Given the description of an element on the screen output the (x, y) to click on. 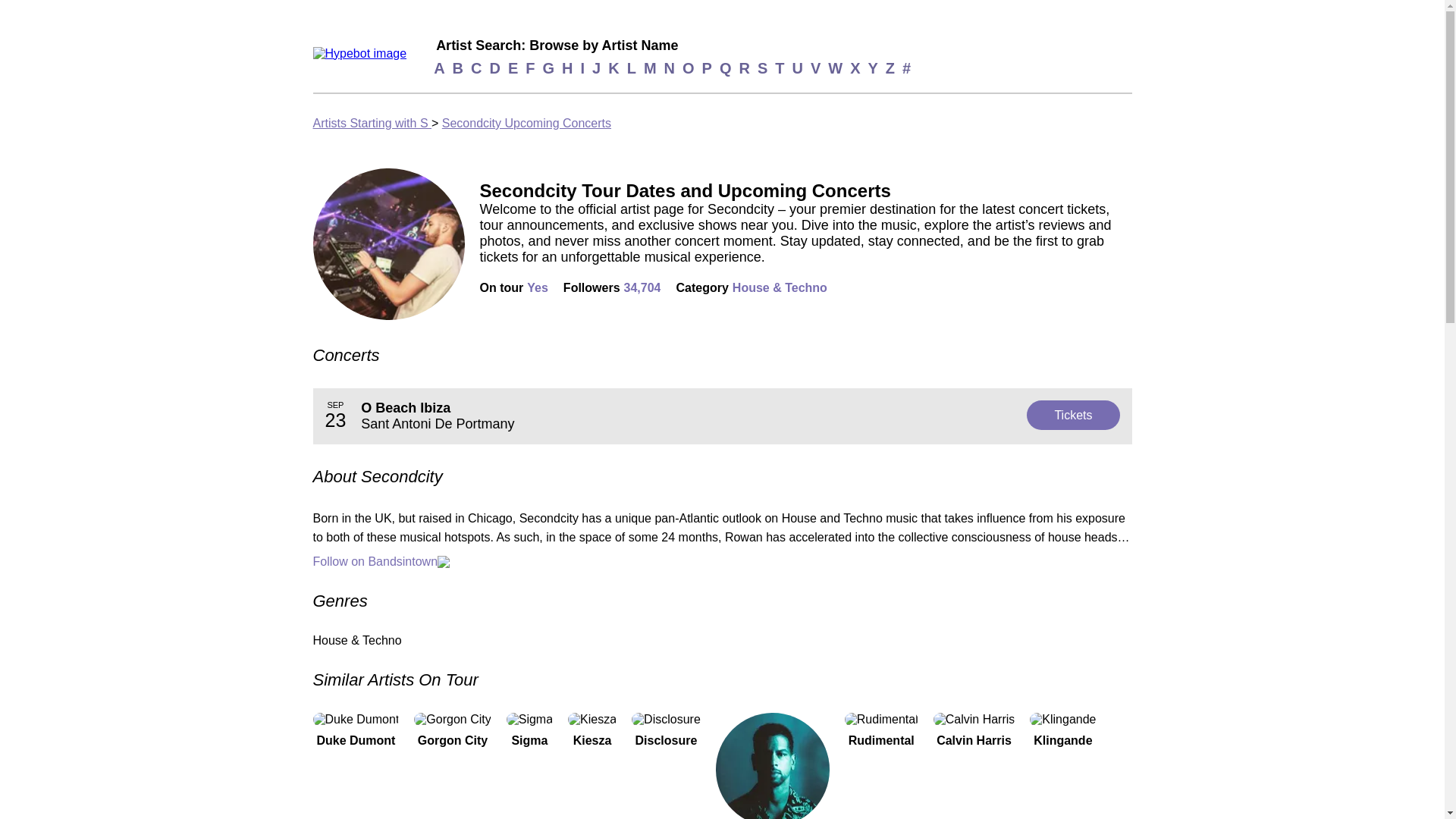
Follow on Bandsintown (722, 561)
MK (772, 765)
Secondcity Upcoming Concerts (526, 123)
Artists Starting with S (722, 416)
